Given the description of an element on the screen output the (x, y) to click on. 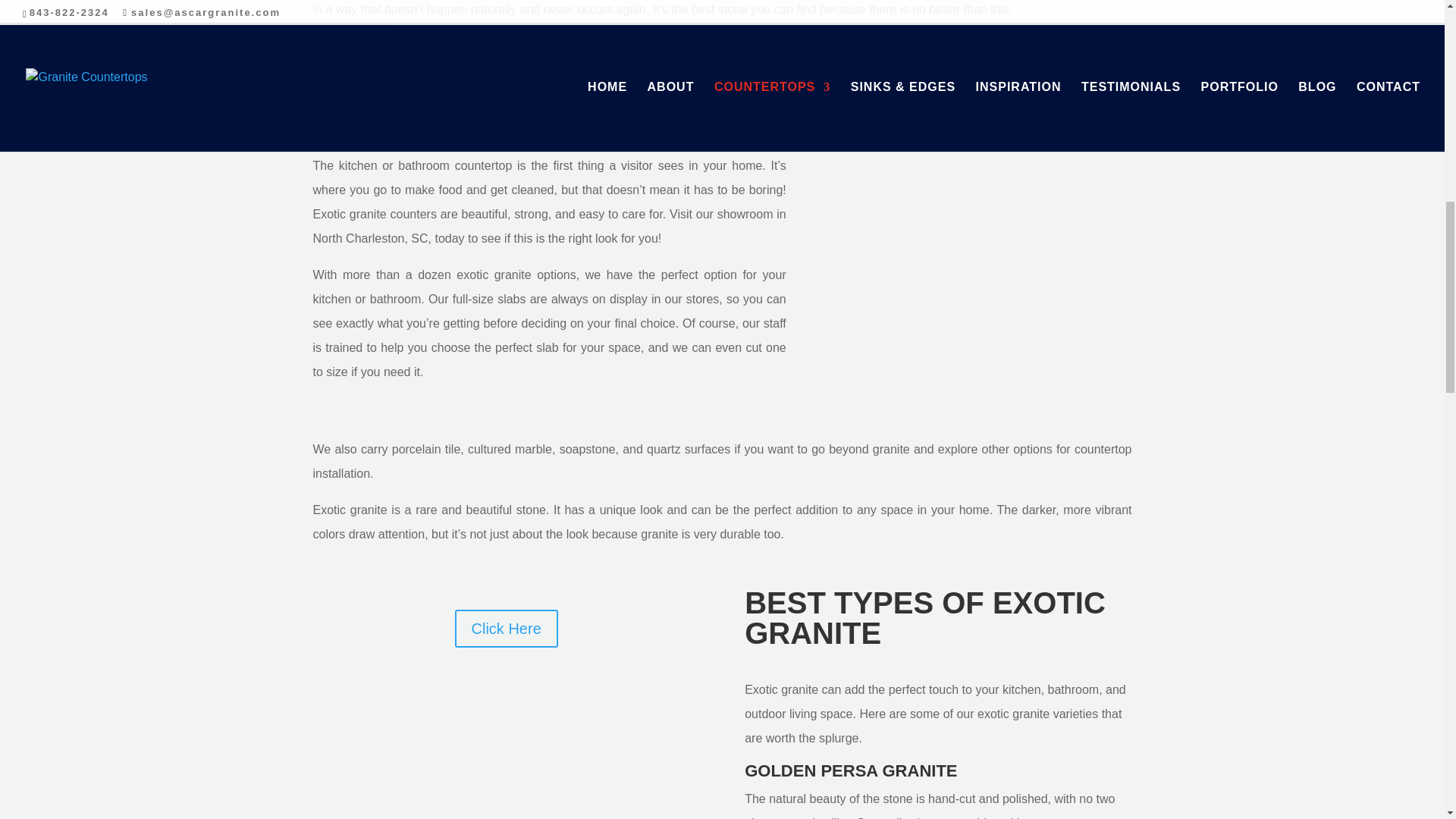
Click Here (981, 116)
Click Here (505, 628)
Baobab Granite- Exotic (853, 69)
